Given the description of an element on the screen output the (x, y) to click on. 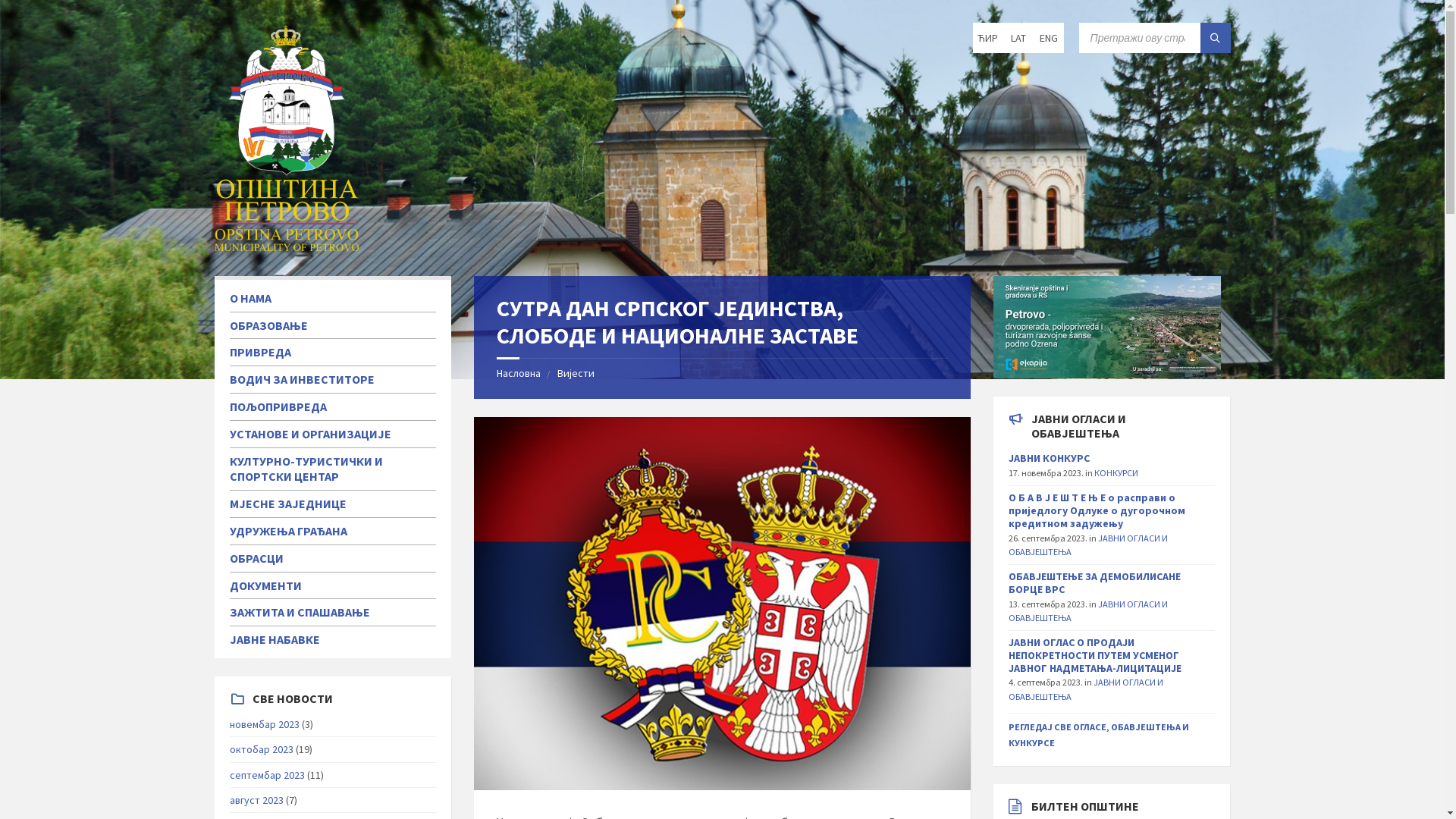
Search Element type: hover (1214, 37)
LAT Element type: text (1017, 37)
ENG Element type: text (1047, 37)
